Given the description of an element on the screen output the (x, y) to click on. 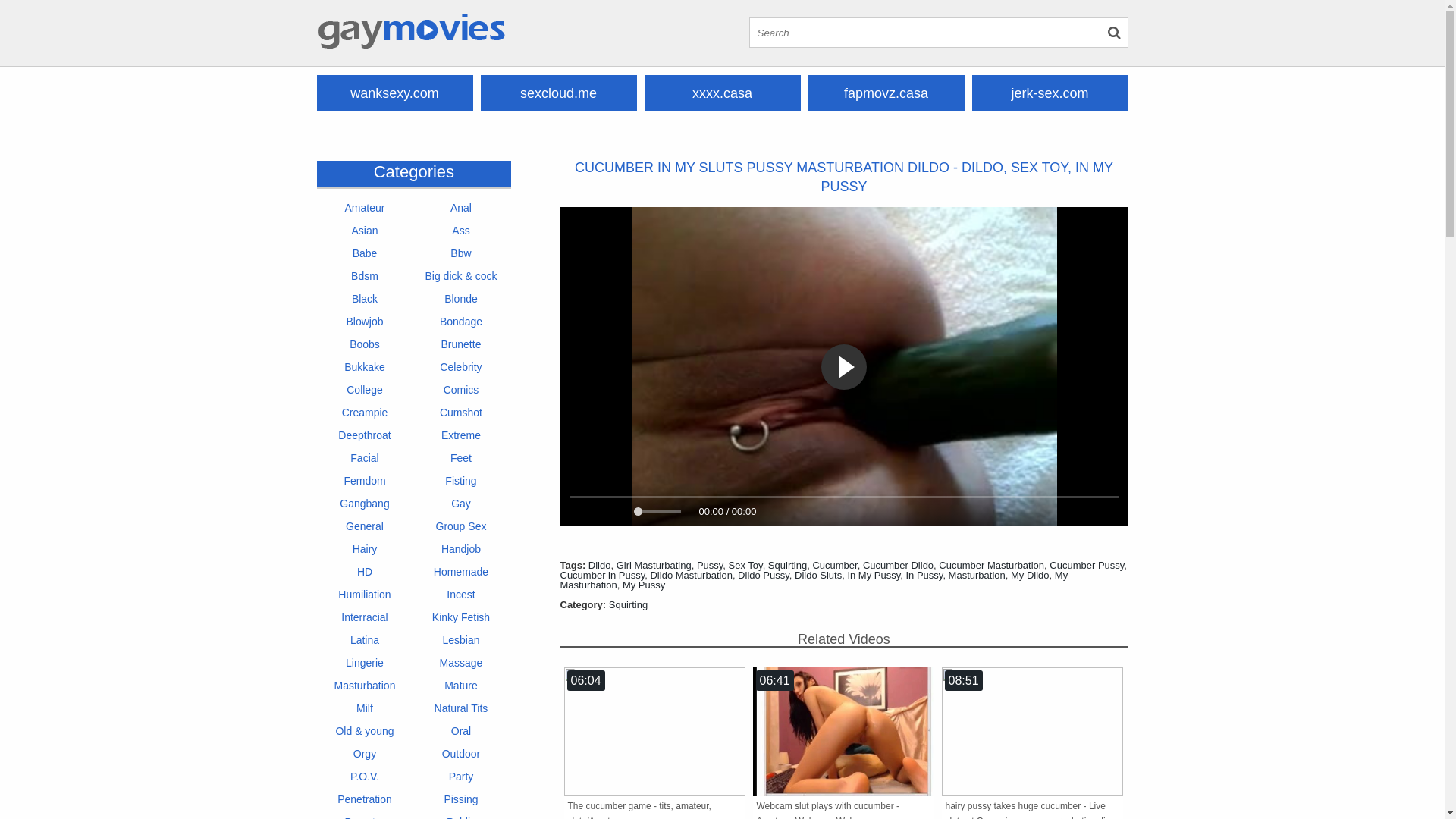
Milf Element type: text (364, 707)
Fisting Element type: text (460, 480)
Asian Element type: text (364, 230)
Mature Element type: text (460, 685)
Cucumber in Pussy Element type: text (601, 574)
Squirting Element type: text (627, 604)
Sex Toy Element type: text (745, 565)
My Pussy Element type: text (643, 584)
Dildo Masturbation Element type: text (690, 574)
My Masturbation Element type: text (813, 579)
wanksexy.com Element type: text (394, 93)
Pissing Element type: text (460, 798)
Cucumber Dildo Element type: text (897, 565)
In Pussy Element type: text (923, 574)
Bdsm Element type: text (364, 275)
Humiliation Element type: text (364, 594)
Bbw Element type: text (460, 252)
Cucumber Element type: text (834, 565)
Babe Element type: text (364, 252)
Penetration Element type: text (364, 798)
Cucumber Pussy Element type: text (1086, 565)
Femdom Element type: text (364, 480)
Lingerie Element type: text (364, 662)
jerk-sex.com Element type: text (1050, 93)
Ass Element type: text (460, 230)
Masturbation Element type: text (976, 574)
Girl Masturbating Element type: text (653, 565)
Oral Element type: text (460, 730)
Creampie Element type: text (364, 412)
Blonde Element type: text (460, 298)
Lesbian Element type: text (460, 639)
Homemade Element type: text (460, 571)
Masturbation Element type: text (364, 685)
Squirting Element type: text (787, 565)
College Element type: text (364, 389)
Natural Tits Element type: text (460, 707)
Brunette Element type: text (460, 343)
Extreme Element type: text (460, 434)
Amateur Element type: text (364, 207)
Incest Element type: text (460, 594)
HD Element type: text (364, 571)
Boobs Element type: text (364, 343)
Massage Element type: text (460, 662)
In My Pussy Element type: text (873, 574)
Dildo Element type: text (599, 565)
Gangbang Element type: text (364, 503)
Dildo Pussy Element type: text (763, 574)
Comics Element type: text (460, 389)
Hairy Element type: text (364, 548)
Dildo Sluts Element type: text (817, 574)
Big dick & cock Element type: text (460, 275)
sexcloud.me Element type: text (558, 93)
Party Element type: text (460, 776)
Anal Element type: text (460, 207)
Bondage Element type: text (460, 321)
Latina Element type: text (364, 639)
Deepthroat Element type: text (364, 434)
My Dildo Element type: text (1029, 574)
Outdoor Element type: text (460, 753)
Facial Element type: text (364, 457)
Gay Element type: text (460, 503)
Interracial Element type: text (364, 616)
Cucumber Masturbation Element type: text (991, 565)
Feet Element type: text (460, 457)
Pussy Element type: text (709, 565)
Cumshot Element type: text (460, 412)
Handjob Element type: text (460, 548)
Kinky Fetish Element type: text (460, 616)
Blowjob Element type: text (364, 321)
Celebrity Element type: text (460, 366)
xxxx.casa Element type: text (722, 93)
Group Sex Element type: text (460, 525)
P.O.V. Element type: text (364, 776)
General Element type: text (364, 525)
Old & young Element type: text (364, 730)
Black Element type: text (364, 298)
fapmovz.casa Element type: text (886, 93)
Orgy Element type: text (364, 753)
Bukkake Element type: text (364, 366)
